Given the description of an element on the screen output the (x, y) to click on. 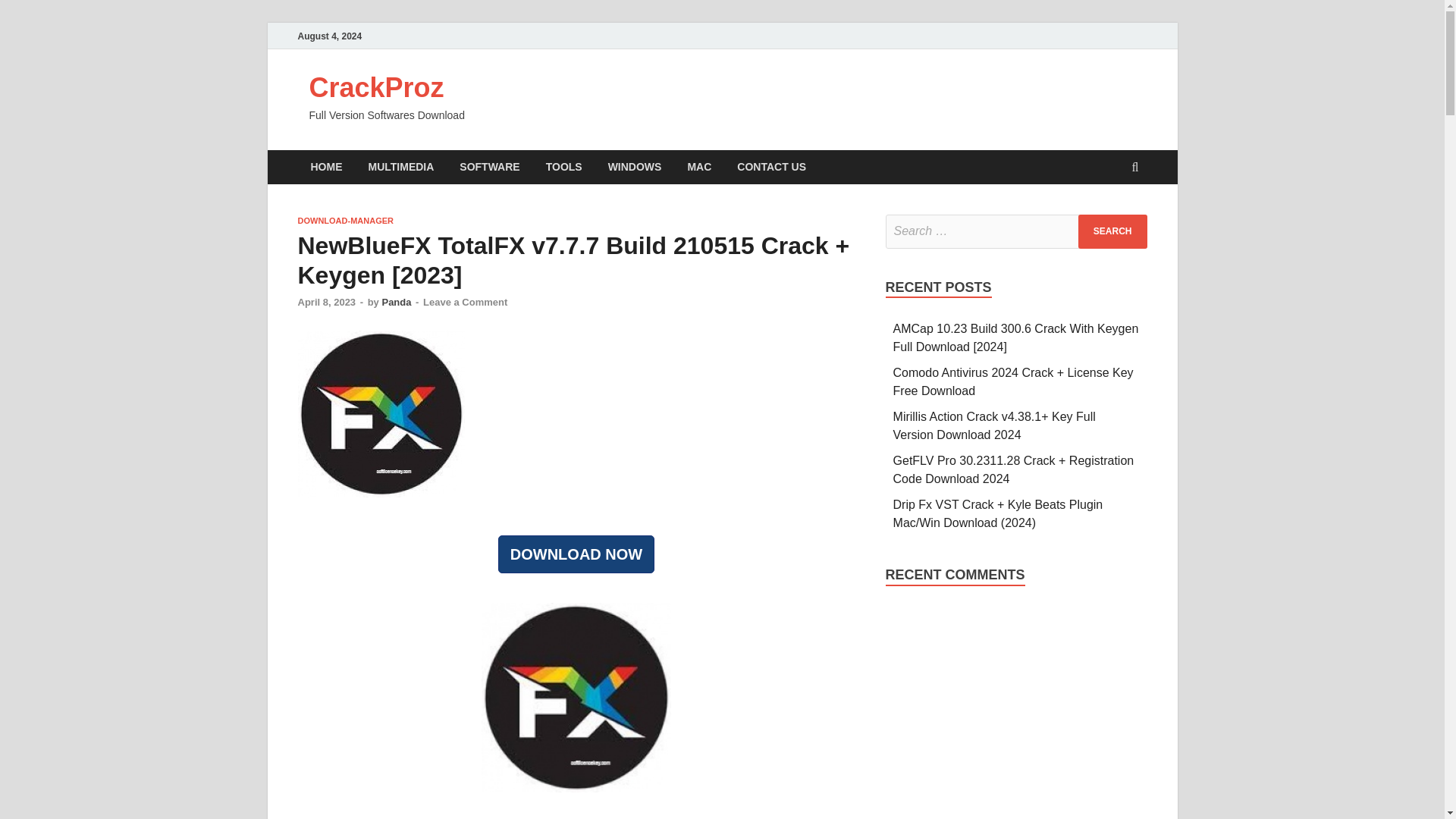
MAC (698, 166)
DOWNLOAD NOW (575, 554)
WINDOWS (635, 166)
Panda (395, 301)
TOOLS (563, 166)
Leave a Comment (464, 301)
April 8, 2023 (326, 301)
MULTIMEDIA (400, 166)
HOME (326, 166)
CrackProz (376, 87)
